Given the description of an element on the screen output the (x, y) to click on. 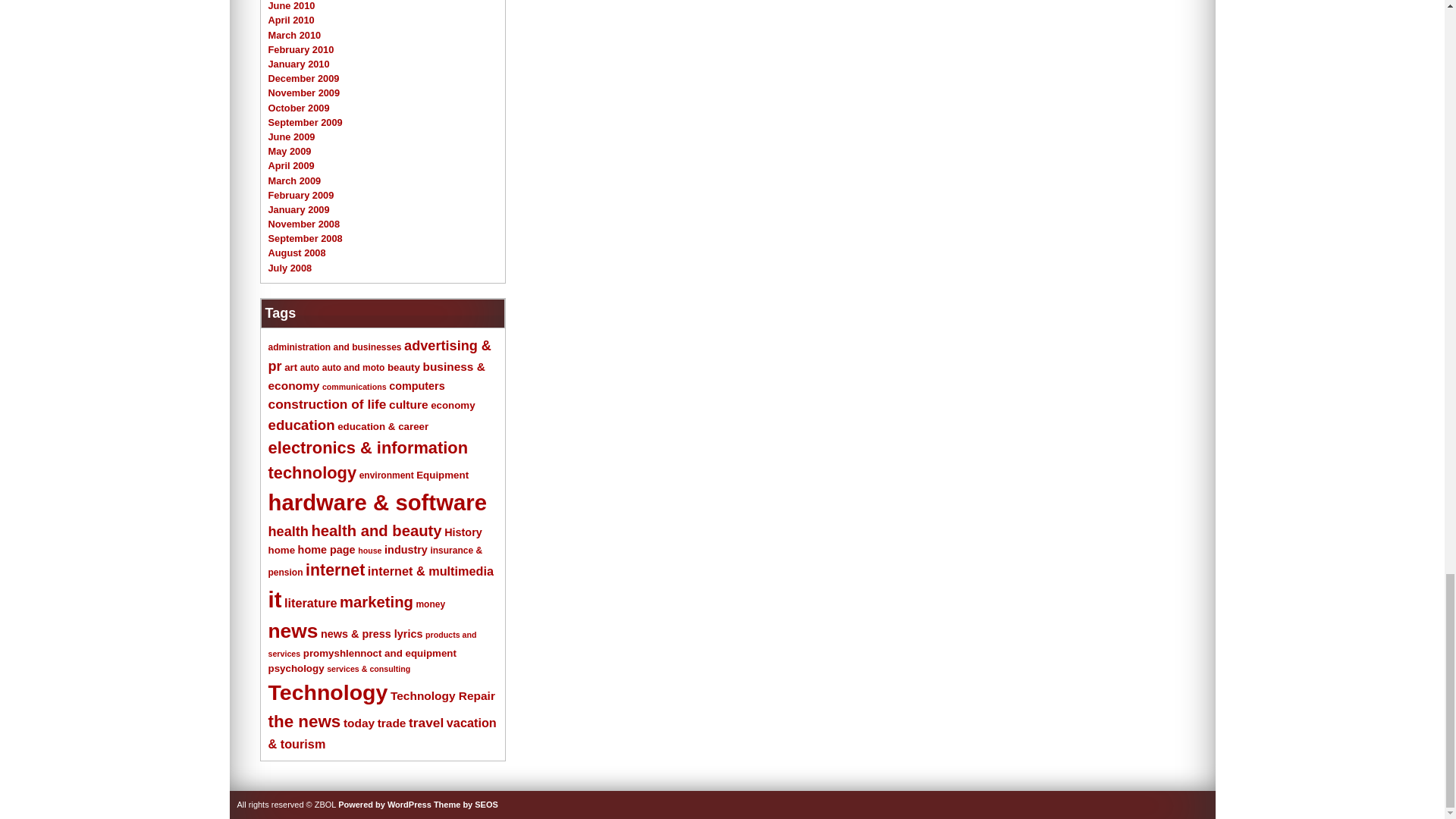
Seos free wordpress themes (465, 804)
